Given the description of an element on the screen output the (x, y) to click on. 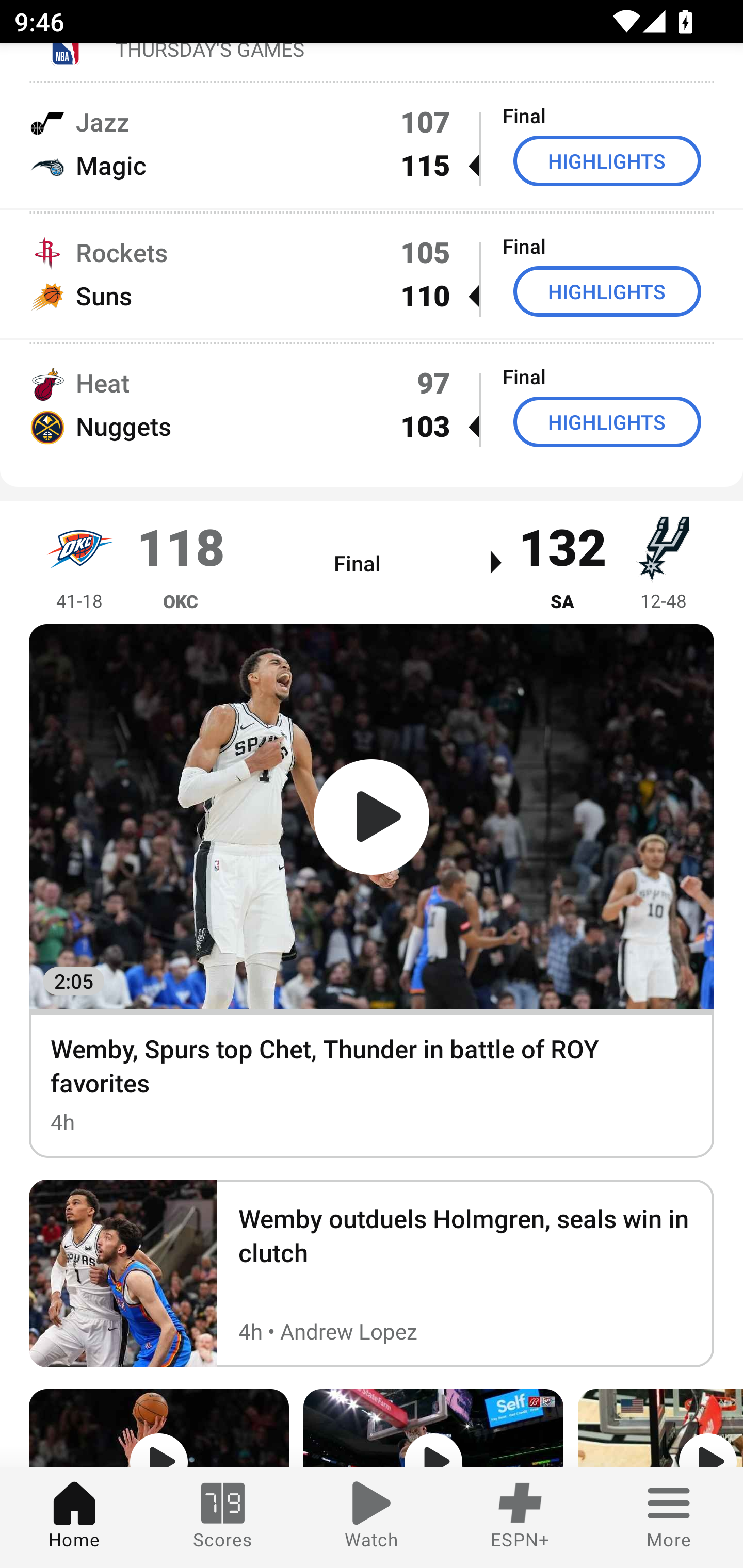
Jazz 107 Final Magic 115  HIGHLIGHTS (371, 143)
HIGHLIGHTS (607, 161)
Rockets 105 Final Suns 110  HIGHLIGHTS (371, 274)
HIGHLIGHTS (607, 291)
Heat 97 Final Nuggets 103  HIGHLIGHTS (371, 404)
HIGHLIGHTS (607, 421)
Scores (222, 1517)
Watch (371, 1517)
ESPN+ (519, 1517)
More (668, 1517)
